Given the description of an element on the screen output the (x, y) to click on. 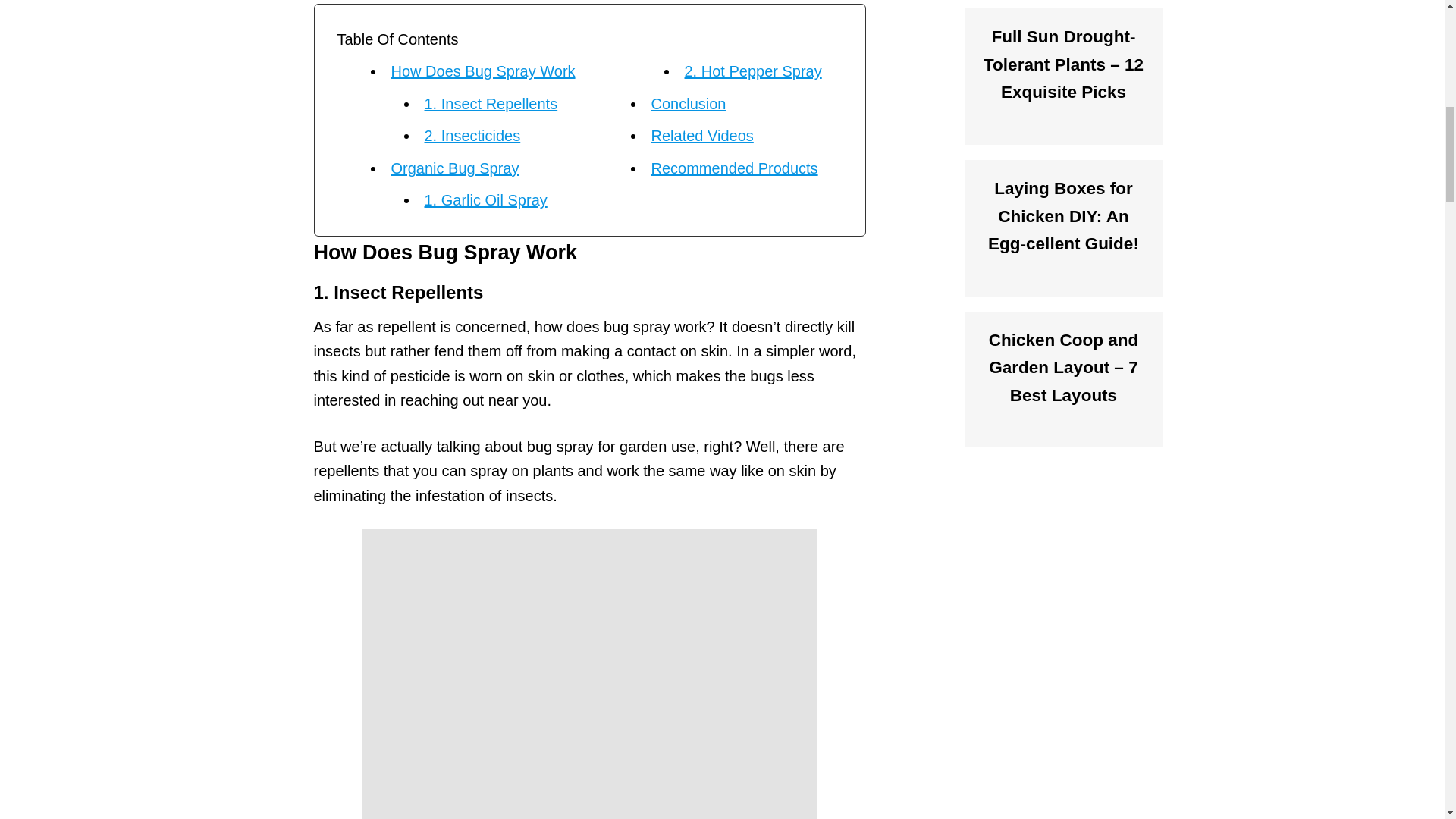
Recommended Products (733, 167)
1. Garlic Oil Spray (486, 199)
1. Insect Repellents (491, 103)
Organic Bug Spray (455, 167)
2. Hot Pepper Spray (752, 71)
Related Videos (701, 135)
2. Insecticides (473, 135)
How Does Bug Spray Work (483, 71)
Conclusion (687, 103)
